Given the description of an element on the screen output the (x, y) to click on. 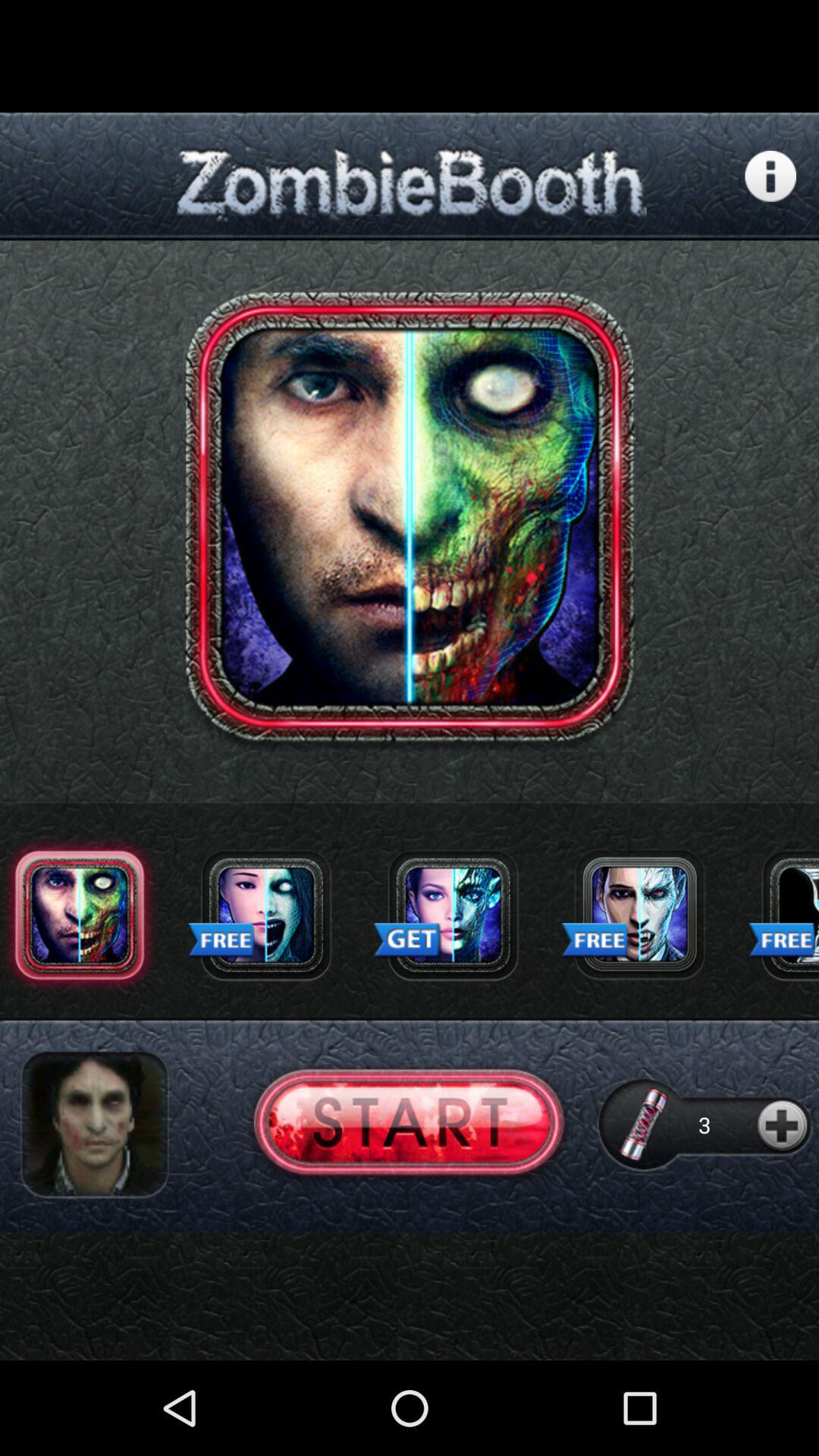
convert our face into a customized zombie 's face as free (265, 914)
